Given the description of an element on the screen output the (x, y) to click on. 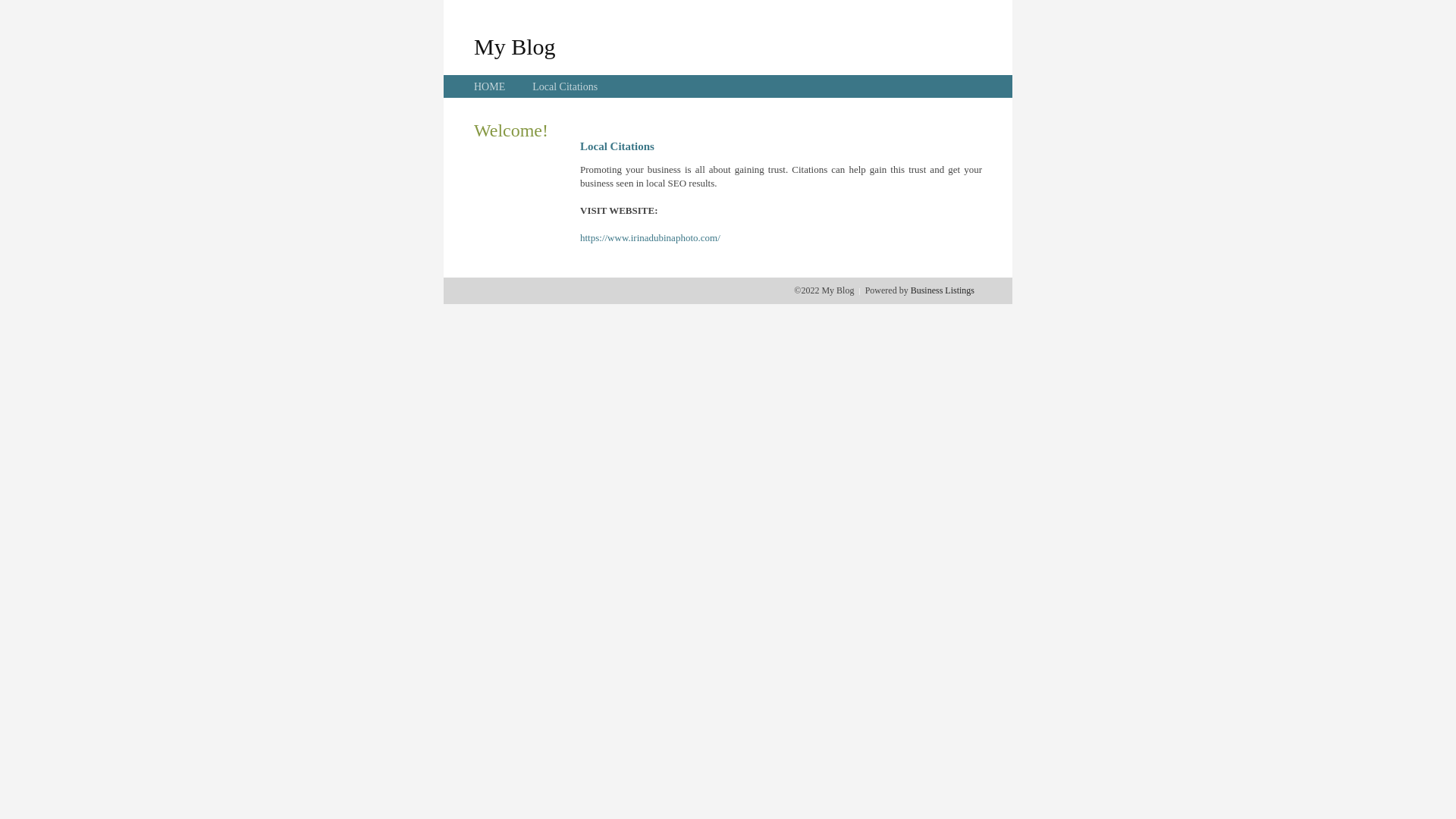
https://www.irinadubinaphoto.com/ Element type: text (650, 237)
Business Listings Element type: text (942, 290)
My Blog Element type: text (514, 46)
Local Citations Element type: text (564, 86)
HOME Element type: text (489, 86)
